Given the description of an element on the screen output the (x, y) to click on. 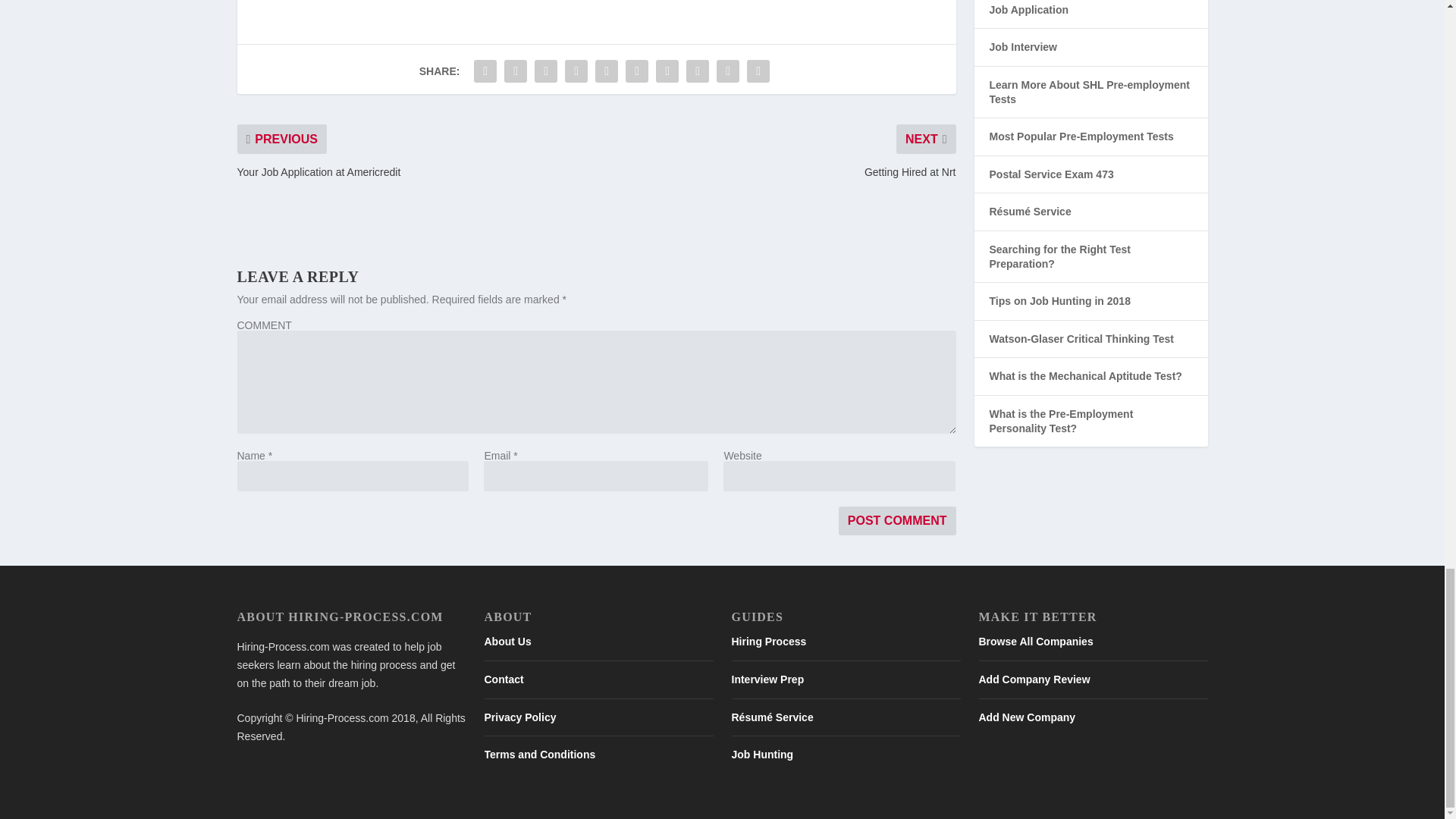
Post Comment (897, 520)
Post Comment (897, 520)
